Given the description of an element on the screen output the (x, y) to click on. 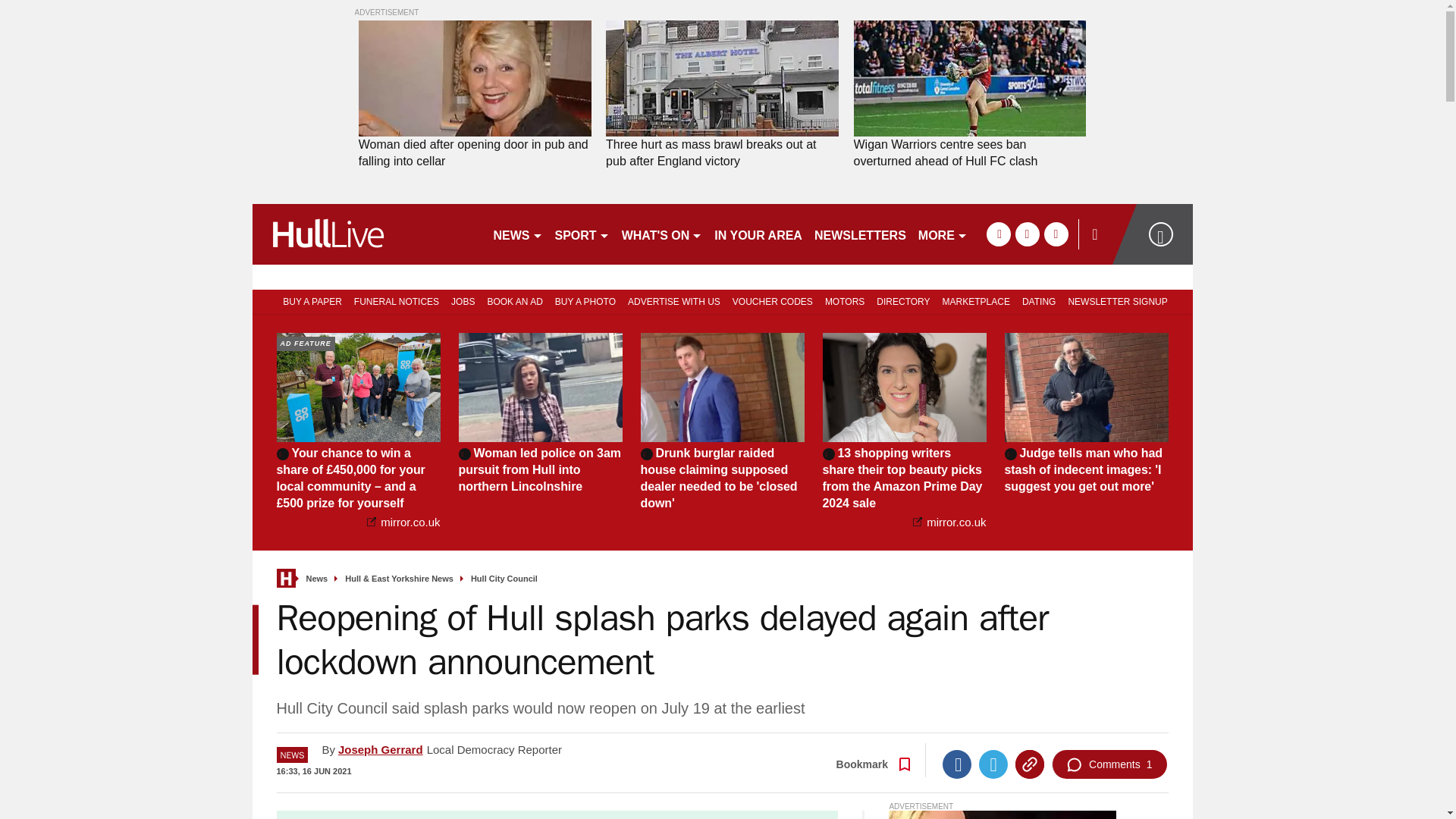
IN YOUR AREA (757, 233)
Comments (1108, 764)
WHAT'S ON (662, 233)
Woman died after opening door in pub and falling into cellar (474, 152)
NEWSLETTERS (860, 233)
SPORT (581, 233)
instagram (1055, 233)
NEWS (517, 233)
twitter (1026, 233)
Facebook (956, 764)
Woman died after opening door in pub and falling into cellar (474, 78)
